Given the description of an element on the screen output the (x, y) to click on. 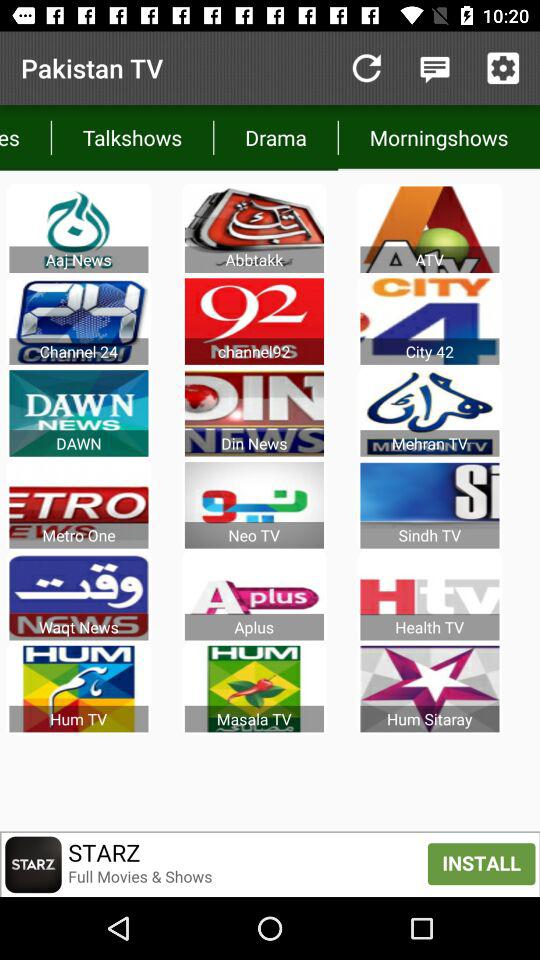
send message (434, 67)
